Given the description of an element on the screen output the (x, y) to click on. 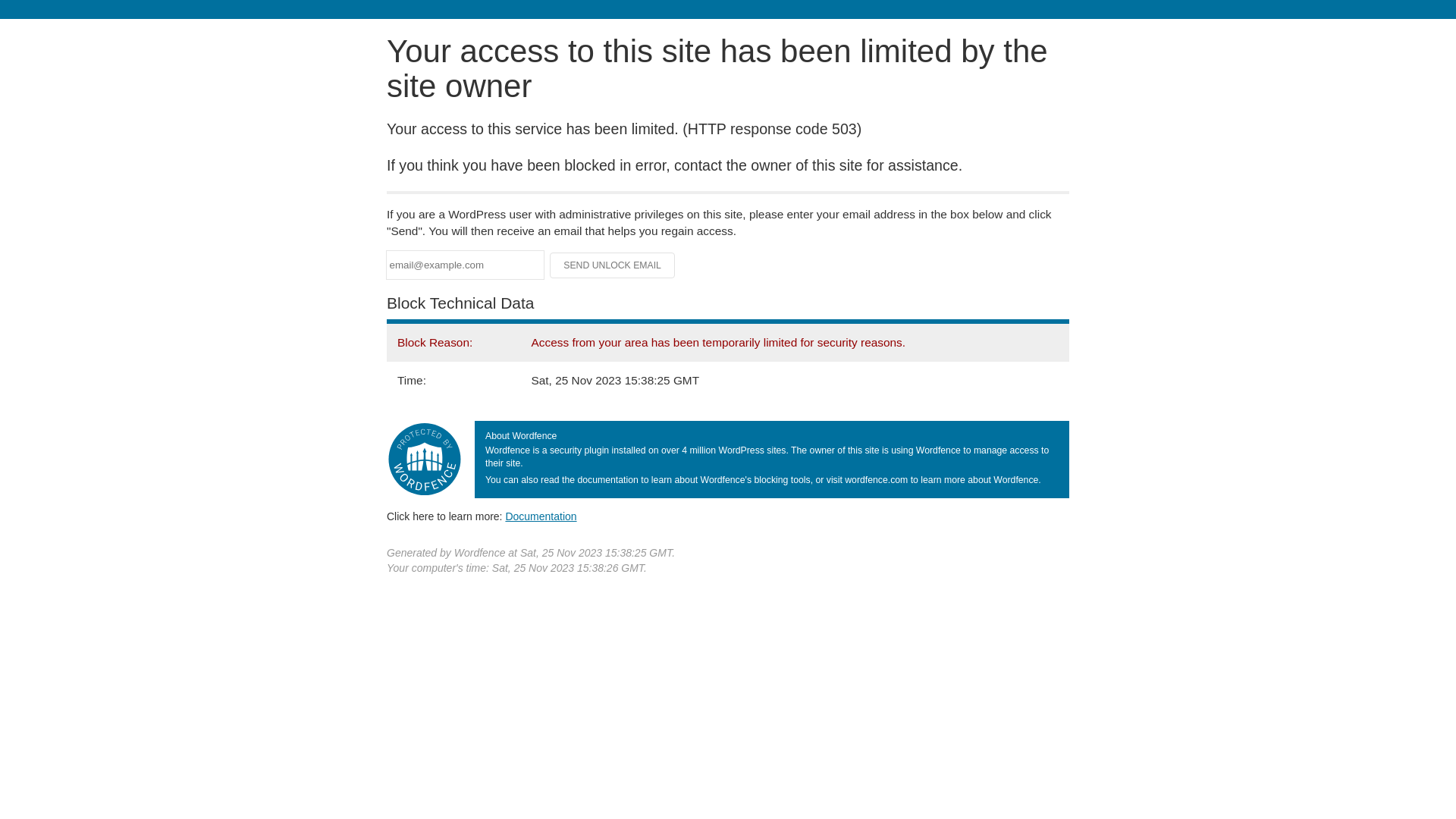
Send Unlock Email Element type: text (612, 265)
Documentation Element type: text (540, 516)
